Given the description of an element on the screen output the (x, y) to click on. 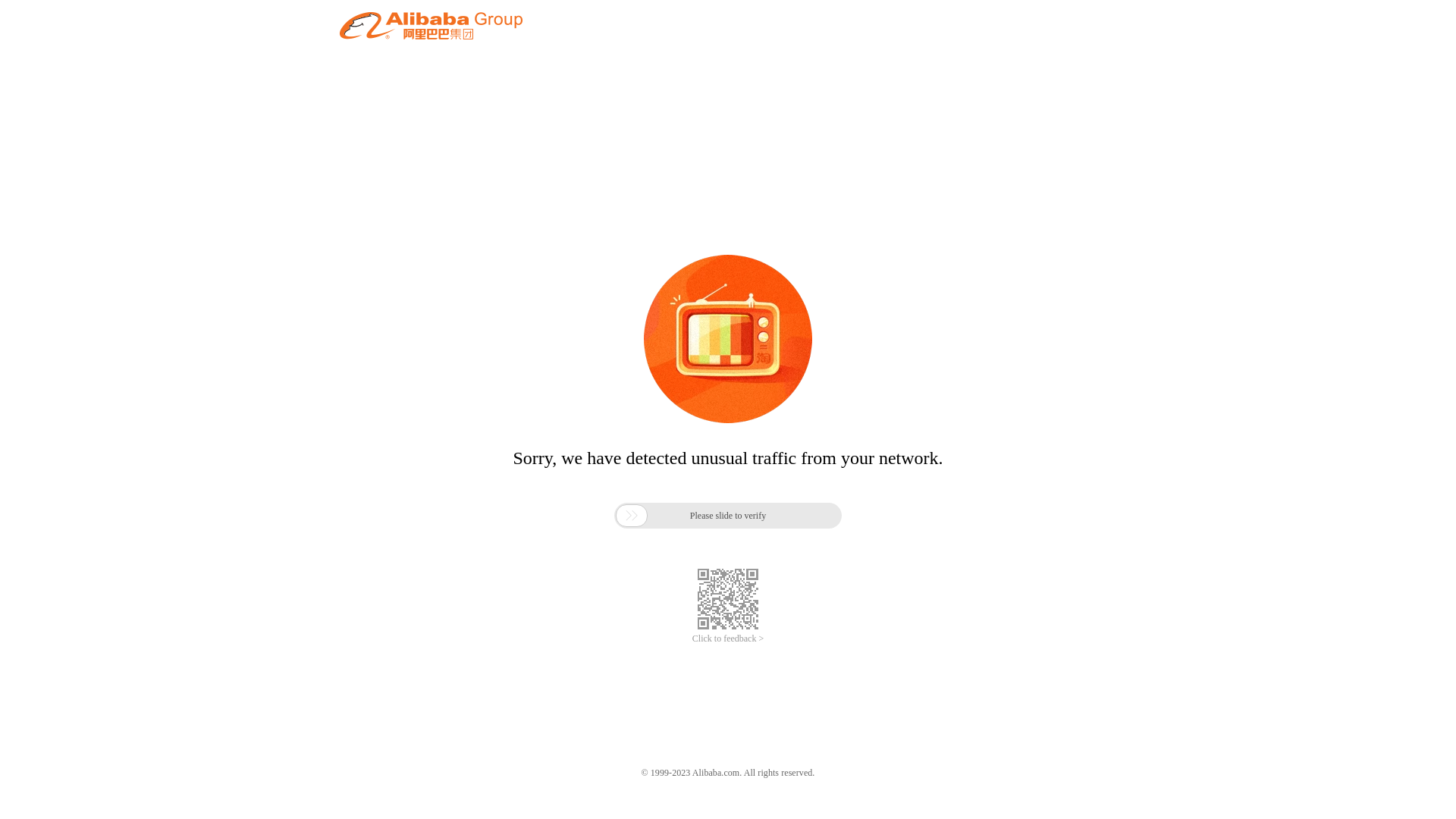
Click to feedback > Element type: text (727, 638)
